Given the description of an element on the screen output the (x, y) to click on. 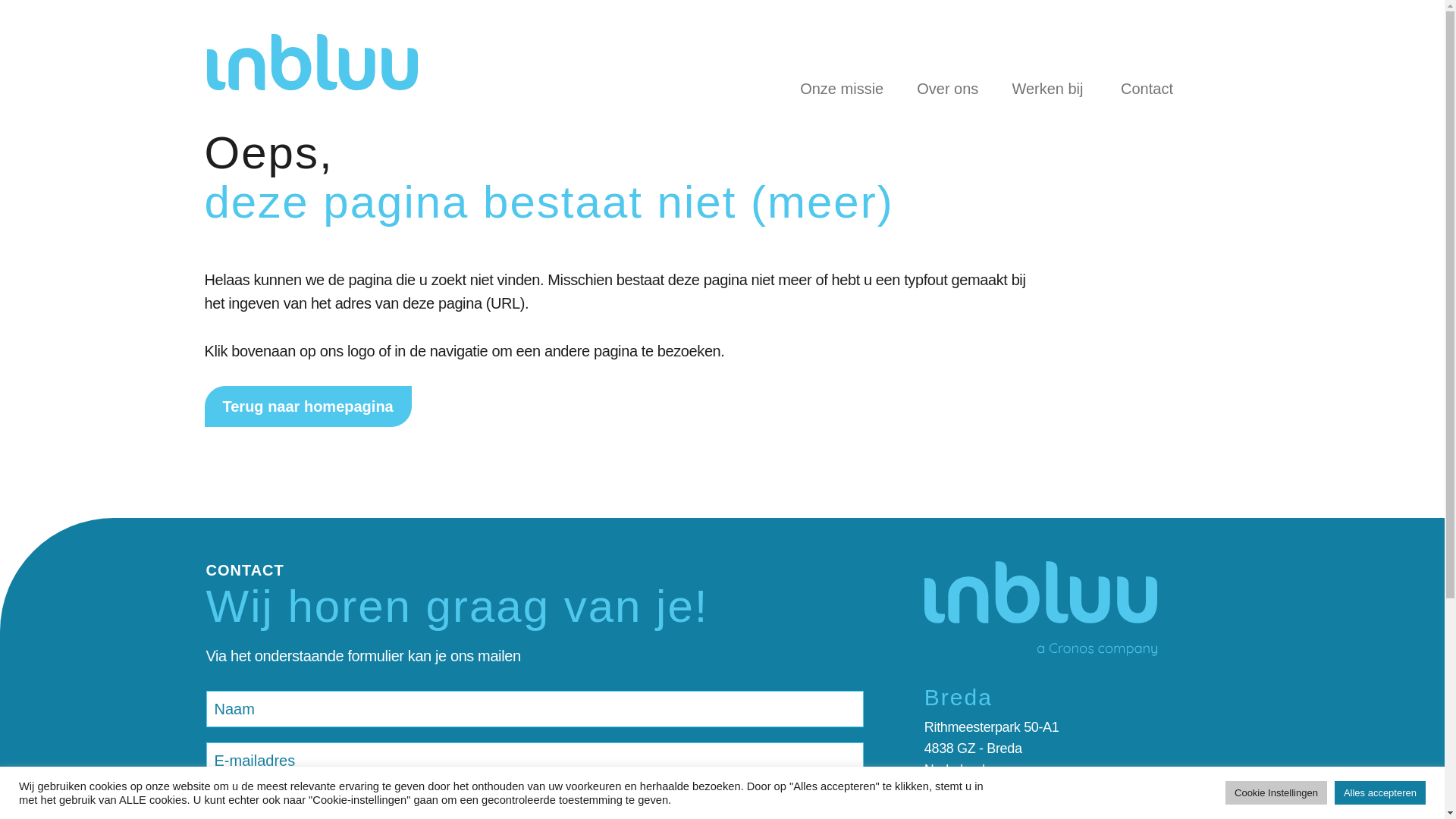
Werken bij (1046, 88)
Cookie Instellingen (1275, 792)
Onze missie (841, 88)
inBluu (311, 61)
Over ons (946, 88)
Terug naar homepagina (308, 405)
Contact (1146, 88)
Terug naar homepagina (308, 405)
Alles accepteren (1380, 792)
